Given the description of an element on the screen output the (x, y) to click on. 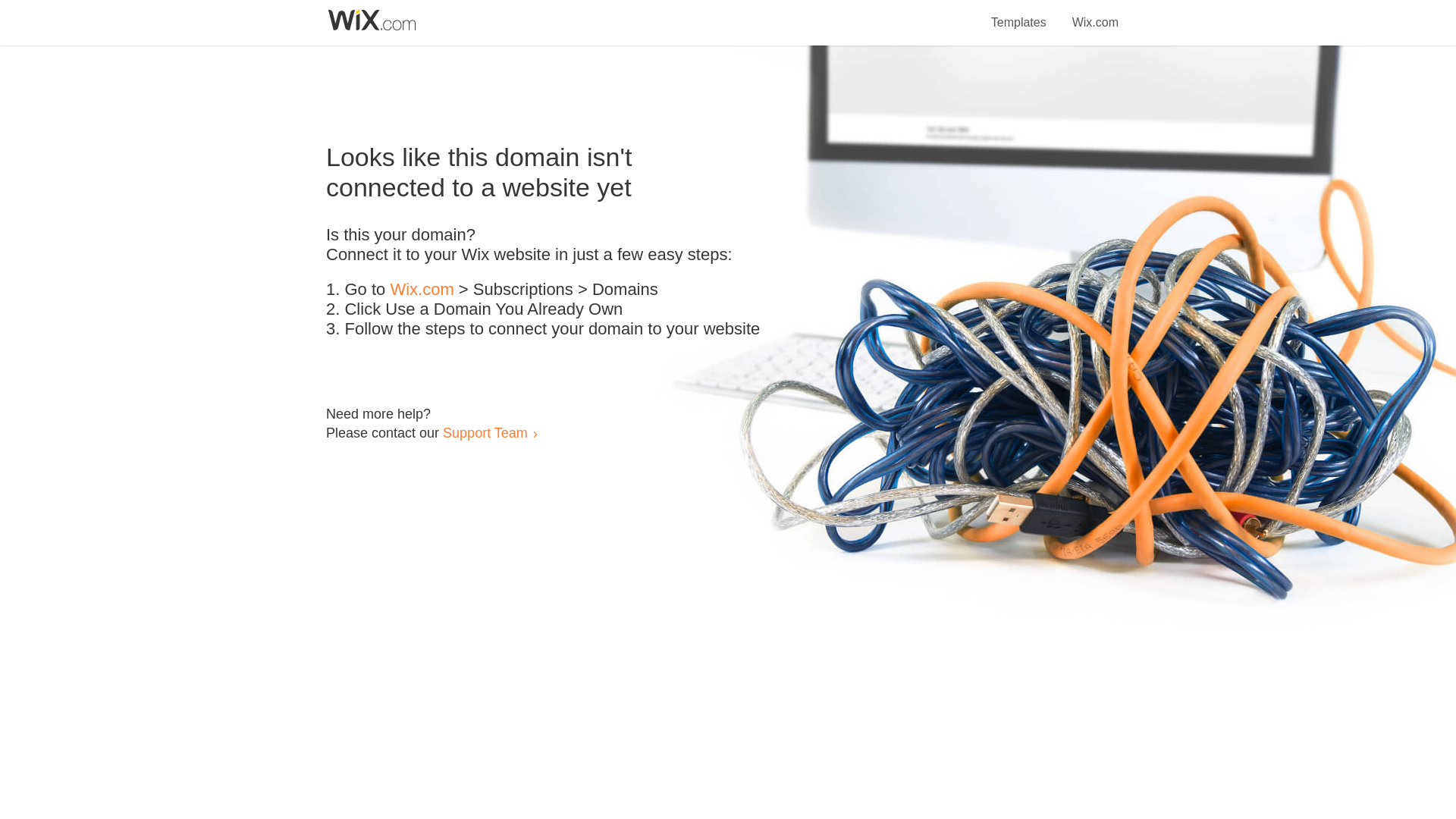
Templates (1018, 14)
Support Team (484, 432)
Wix.com (421, 289)
Wix.com (1095, 14)
